Given the description of an element on the screen output the (x, y) to click on. 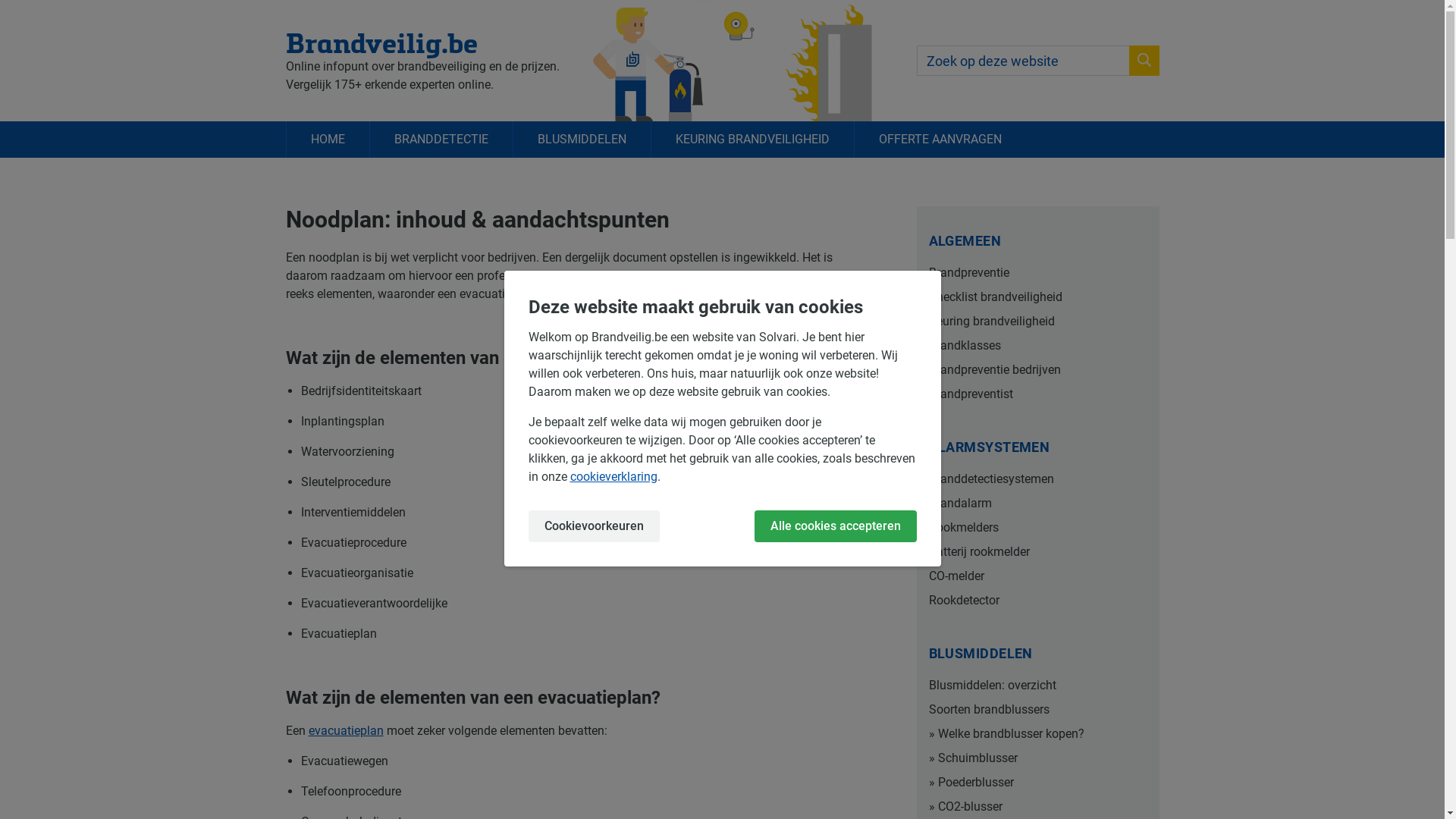
Brandpreventist Element type: text (1037, 394)
Brandveilig.be Element type: text (421, 42)
BRANDDETECTIE Element type: text (439, 139)
HOME Element type: text (326, 139)
Keuring brandveiligheid Element type: text (1037, 321)
Rookmelders Element type: text (1037, 527)
Soorten brandblussers Element type: text (1037, 709)
Blusmiddelen: overzicht Element type: text (1037, 685)
Batterij rookmelder Element type: text (1037, 551)
Checklist brandveiligheid Element type: text (1037, 297)
cookieverklaring Element type: text (613, 476)
OFFERTE AANVRAGEN Element type: text (939, 139)
Brandalarm Element type: text (1037, 503)
KEURING BRANDVEILIGHEID Element type: text (751, 139)
Alle cookies accepteren Element type: text (834, 526)
evacuatieplan Element type: text (344, 730)
Brandpreventie Element type: text (1037, 272)
Branddetectiesystemen Element type: text (1037, 479)
BLUSMIDDELEN Element type: text (581, 139)
Brandklasses Element type: text (1037, 345)
Cookievoorkeuren Element type: text (592, 526)
Rookdetector Element type: text (1037, 600)
Brandpreventie bedrijven Element type: text (1037, 369)
CO-melder Element type: text (1037, 576)
